Given the description of an element on the screen output the (x, y) to click on. 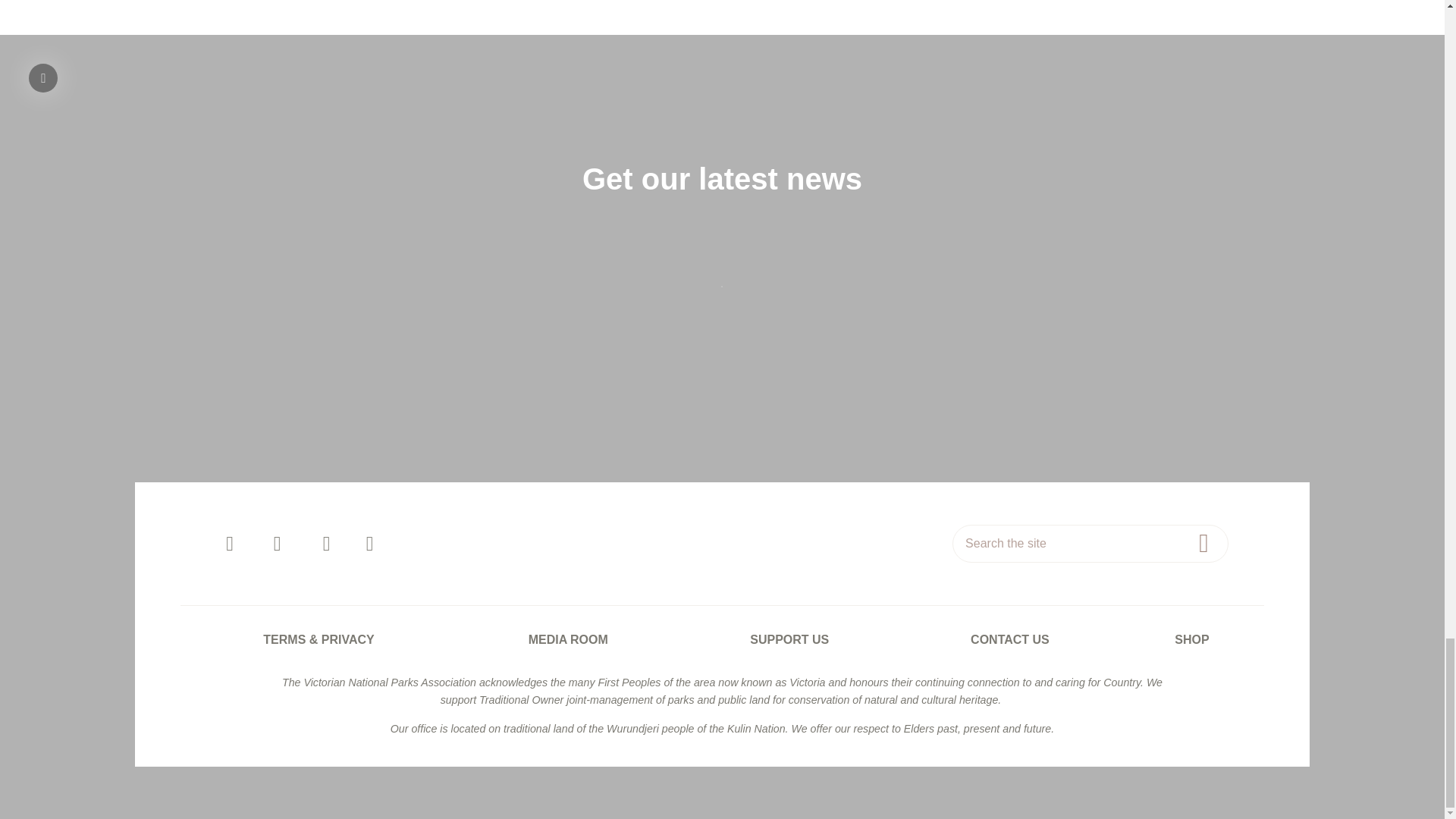
Search for: (1090, 543)
Social menu (400, 543)
Footer menu (721, 639)
